Given the description of an element on the screen output the (x, y) to click on. 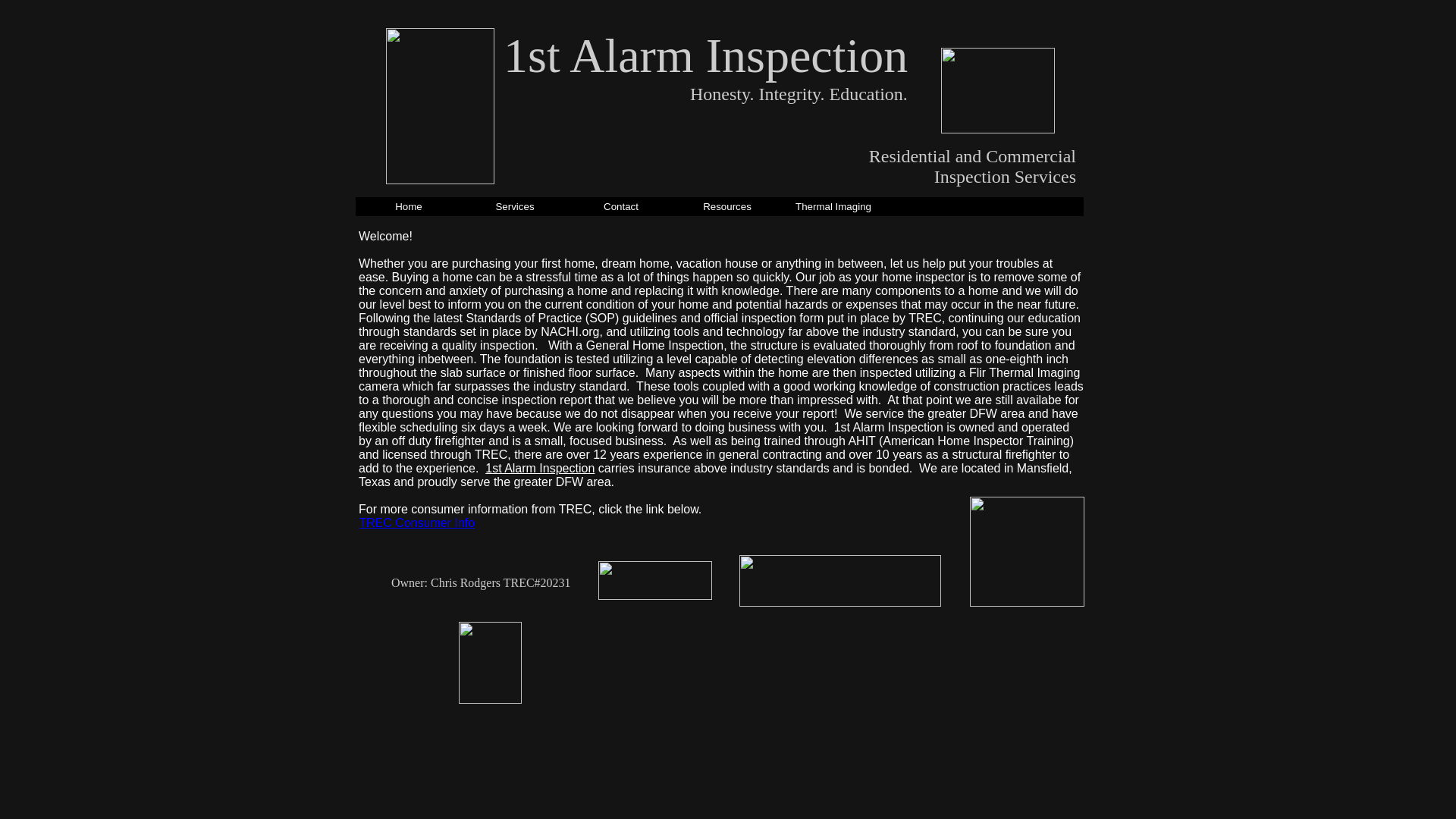
Thermal Imaging Element type: text (833, 208)
Home Element type: text (408, 208)
TREC Consumer Info Element type: text (416, 522)
Services Element type: text (514, 208)
Contact Element type: text (620, 208)
Resources Element type: text (727, 208)
